Given the description of an element on the screen output the (x, y) to click on. 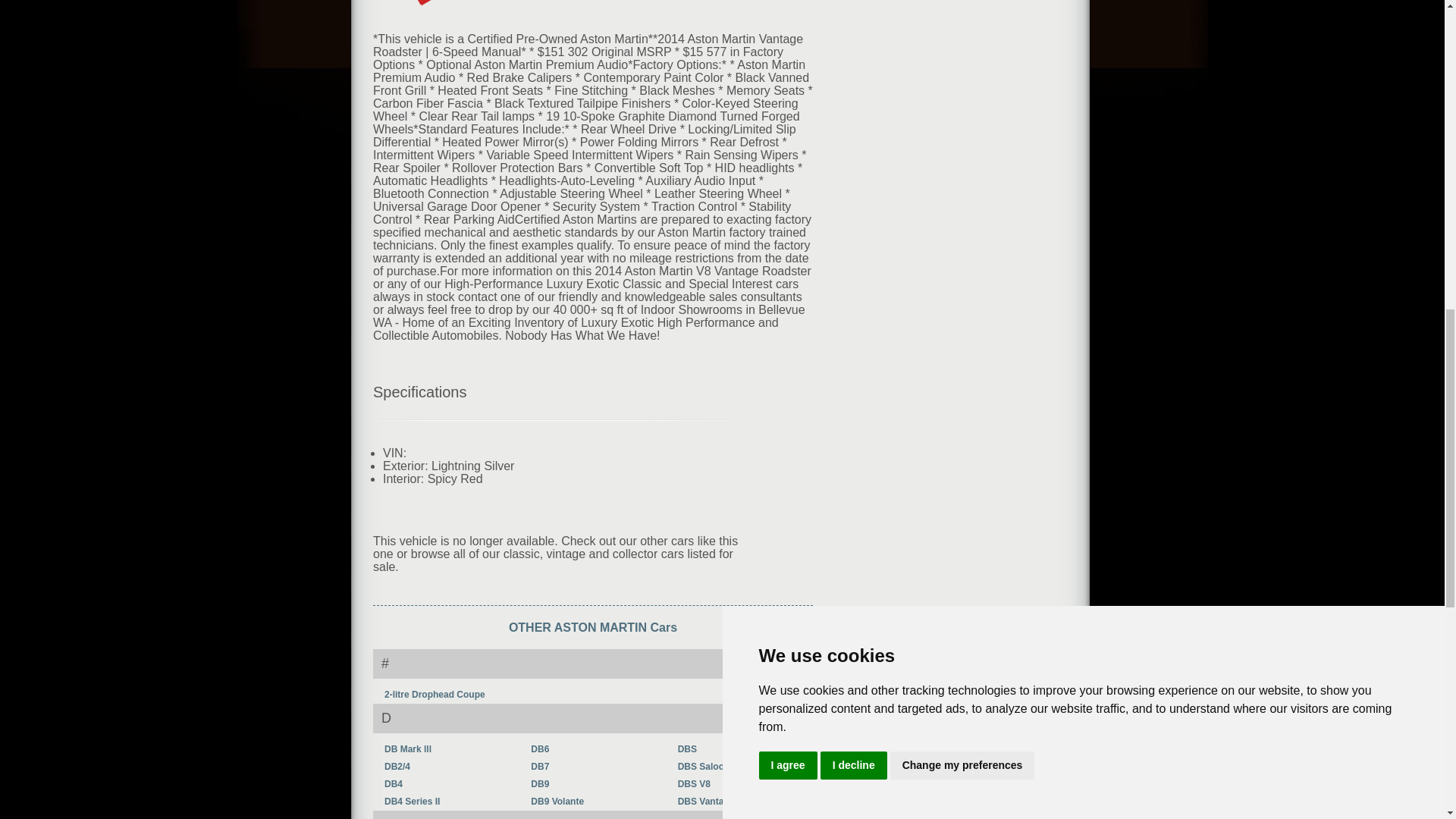
DBS V8 (694, 783)
DBS Vantage (706, 801)
2-litre Drophead Coupe (434, 694)
DB4 (393, 783)
DB4 Series II (411, 801)
DB Mark lll (407, 748)
DB9 Volante (557, 801)
DBS Saloon (704, 766)
DB7 (539, 766)
DBS (687, 748)
